Given the description of an element on the screen output the (x, y) to click on. 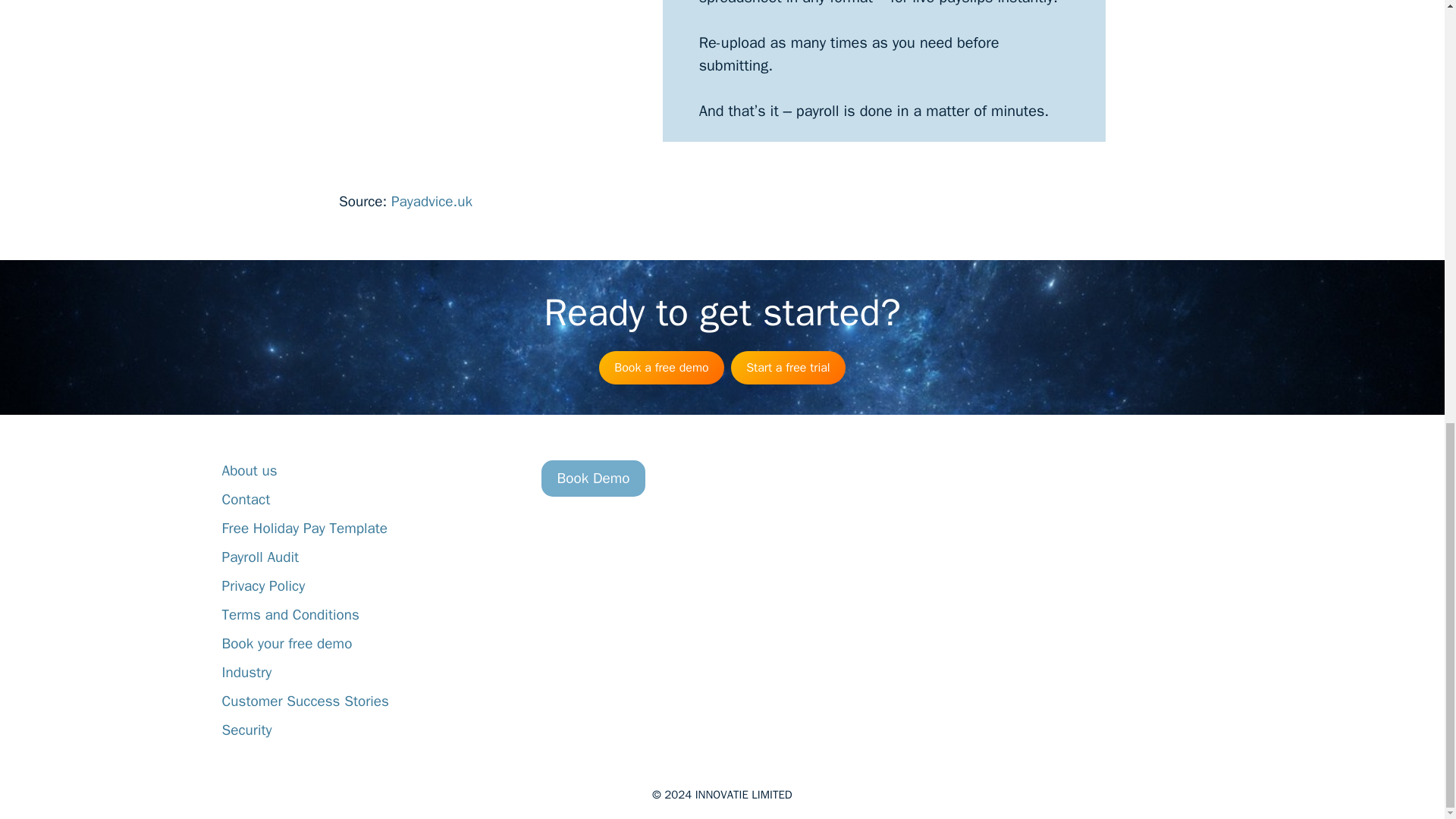
SpreadsheetUpload (486, 83)
